Given the description of an element on the screen output the (x, y) to click on. 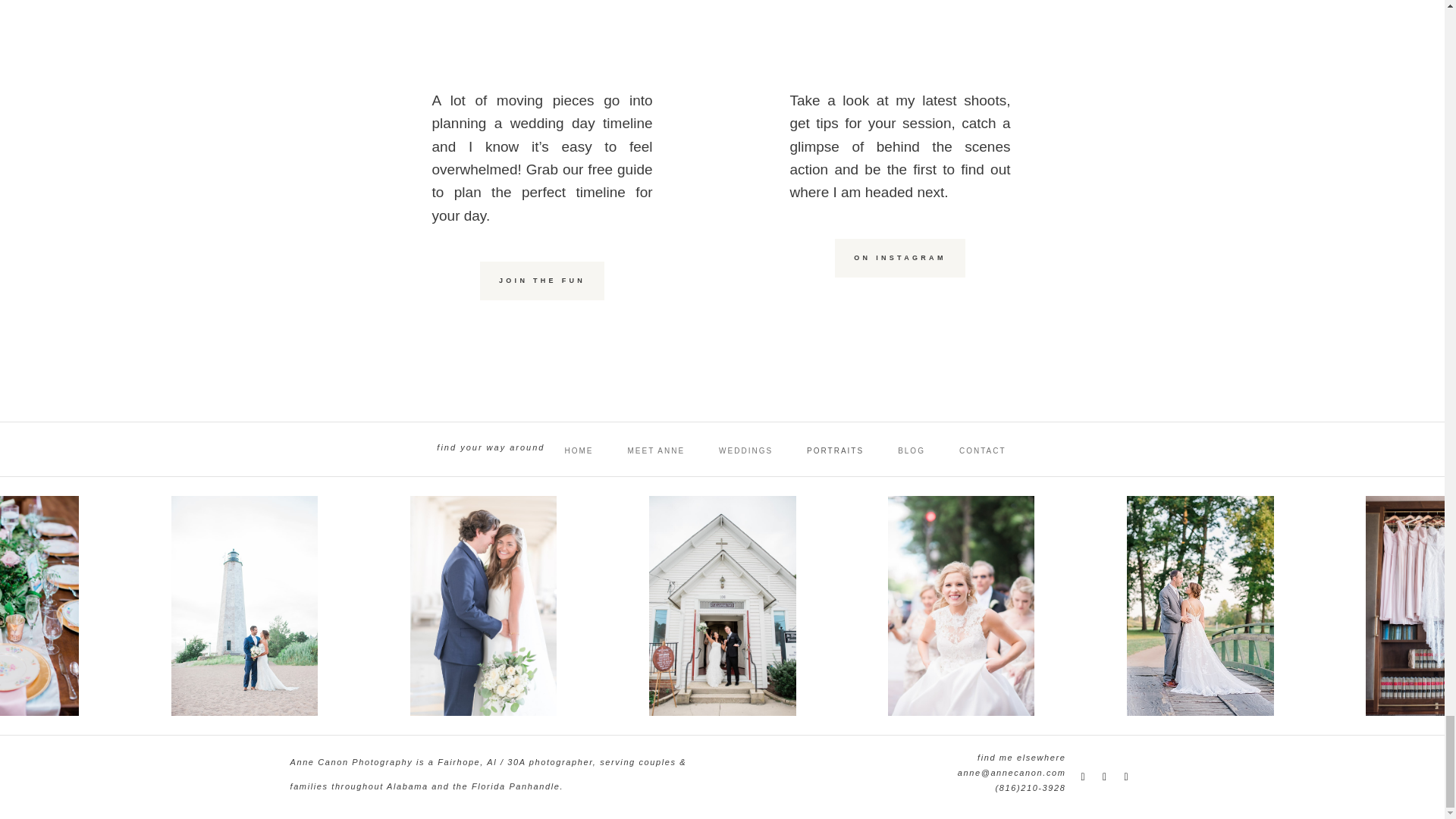
HOME (577, 451)
PORTRAITS (834, 451)
BLOG (911, 451)
WEDDINGS (745, 451)
MEET ANNE (655, 451)
ON INSTAGRAM (898, 258)
JOIN THE FUN (542, 280)
CONTACT (982, 451)
